Given the description of an element on the screen output the (x, y) to click on. 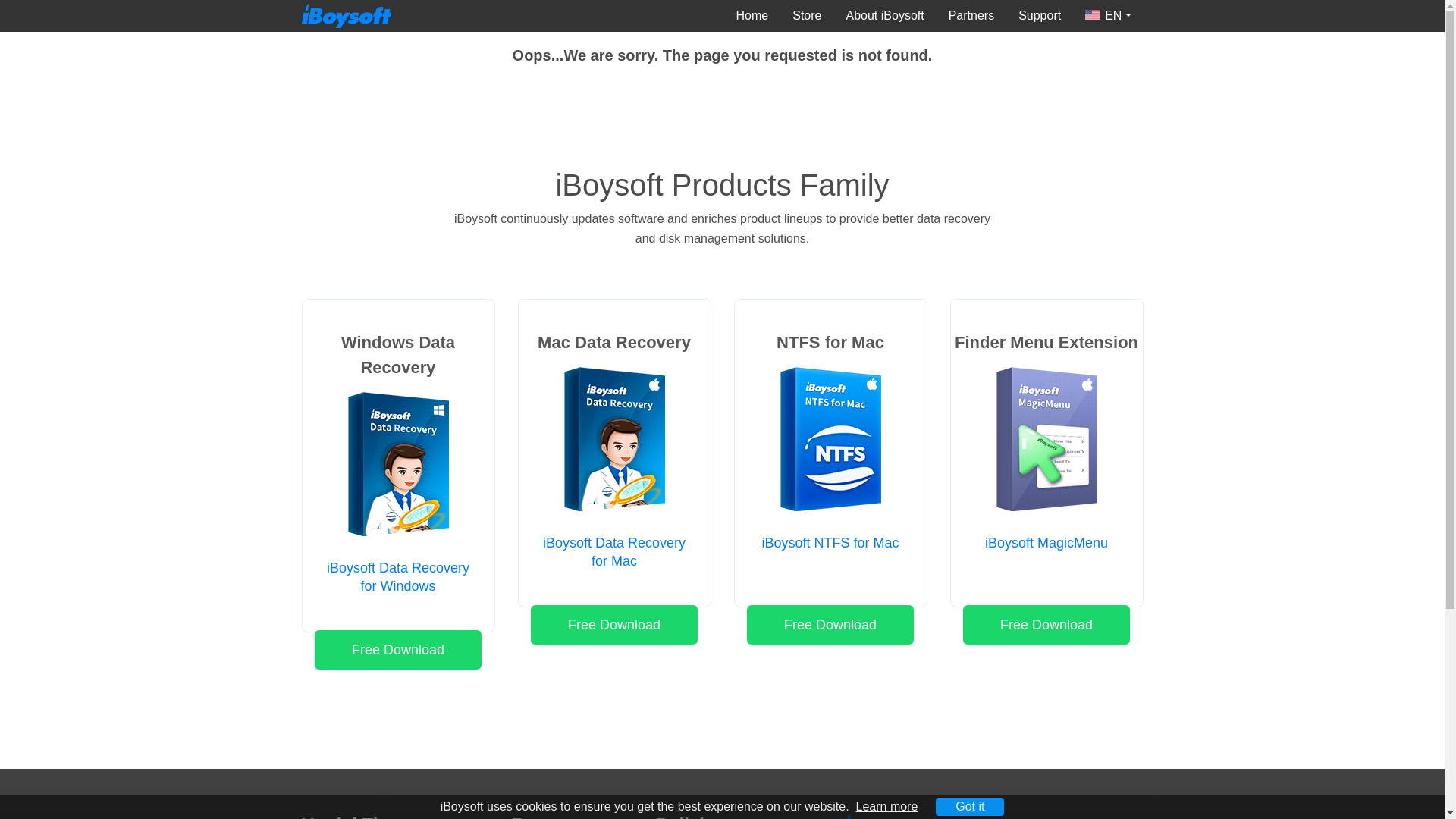
About iBoysoft (885, 15)
iBoysoft Data Recovery for Windows (397, 576)
Home (751, 15)
iBoysoft MagicMenu (1046, 542)
iBoysoft Data Recovery for Mac (614, 551)
iBoysoft NTFS for Mac (829, 542)
EN (1107, 15)
Partners (971, 15)
Support (1039, 15)
Free Download (614, 624)
Store (806, 15)
Free Download (1045, 624)
Free Download (830, 624)
Learn more (887, 806)
Free Download (397, 649)
